Given the description of an element on the screen output the (x, y) to click on. 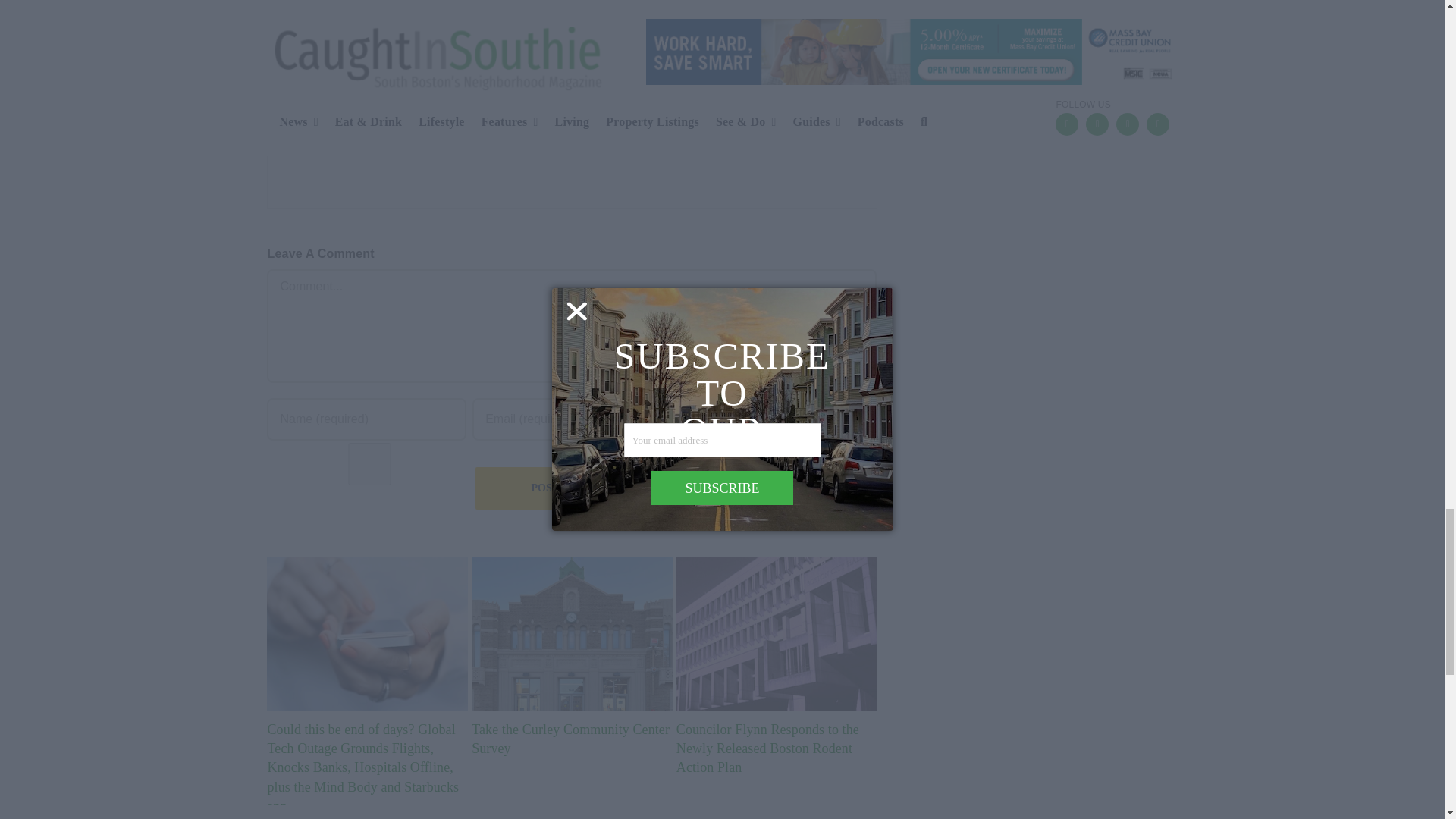
Facebook (282, 69)
yes (368, 464)
Post Comment (575, 487)
